Given the description of an element on the screen output the (x, y) to click on. 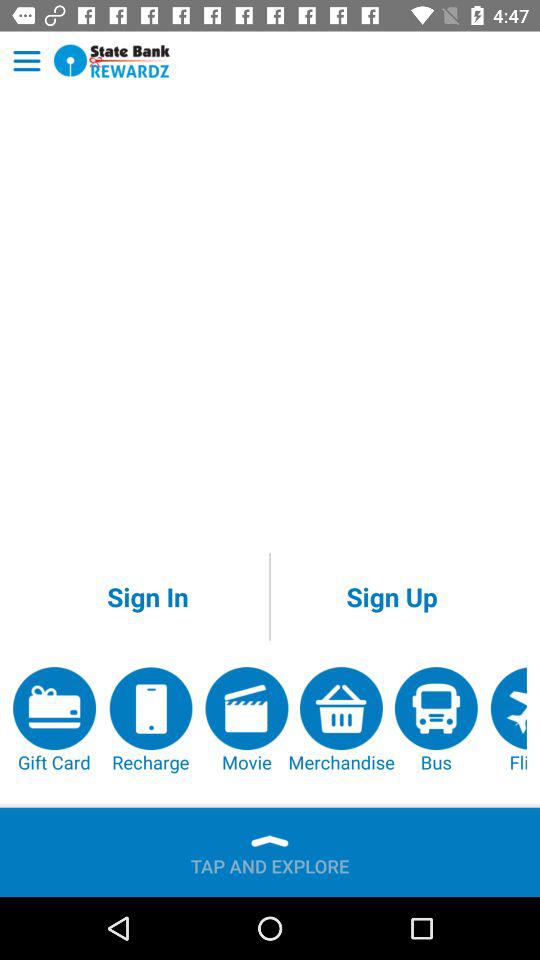
open app to the left of flight app (435, 720)
